Given the description of an element on the screen output the (x, y) to click on. 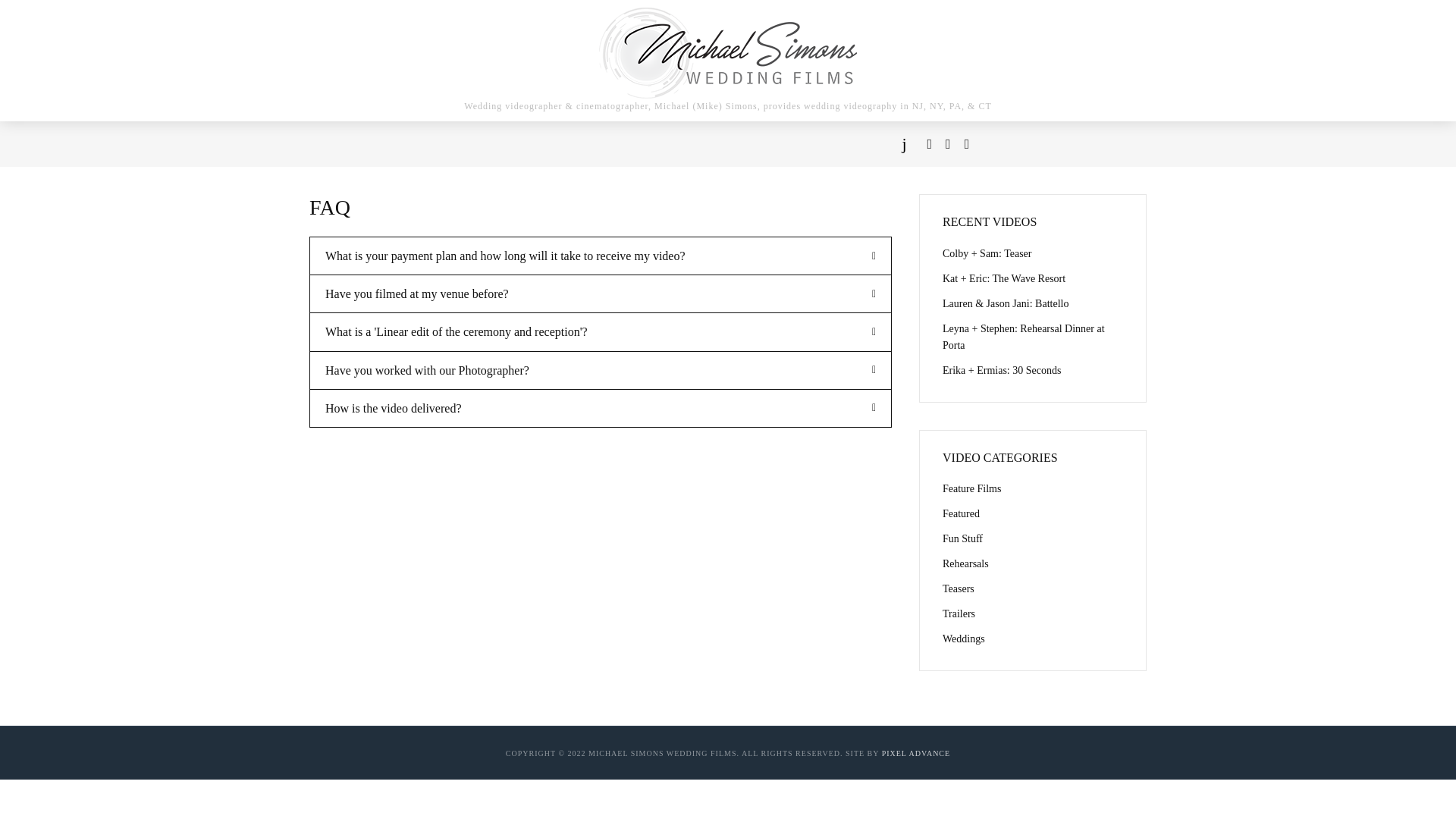
Fun Stuff (1032, 538)
Weddings (1032, 638)
Rehearsals (1032, 564)
Featured (1032, 514)
Teasers (1032, 588)
PIXEL ADVANCE (916, 753)
Trailers (1032, 614)
Feature Films (1032, 488)
